Given the description of an element on the screen output the (x, y) to click on. 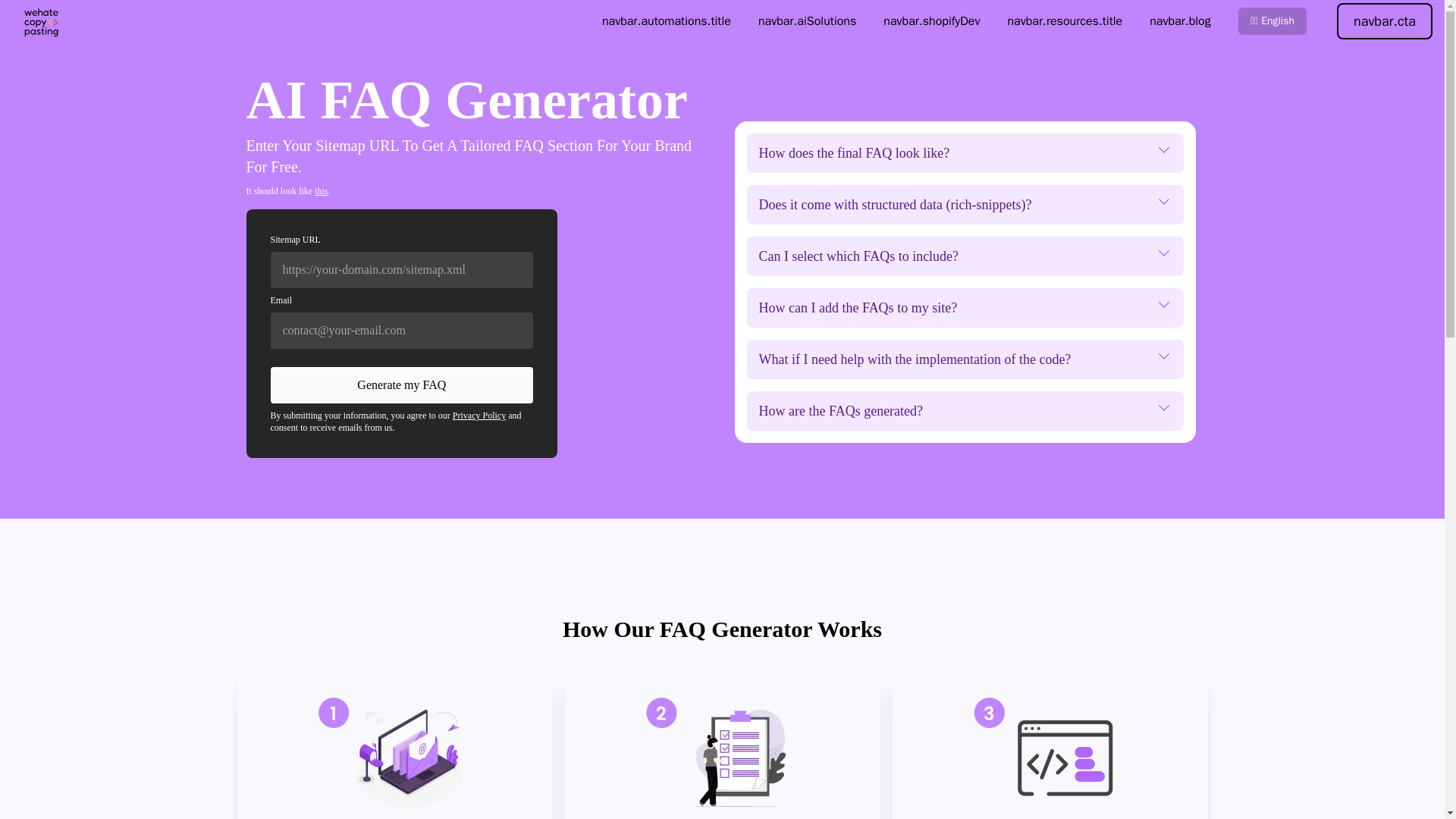
navbar.resources.title (1064, 20)
navbar.blog (1180, 20)
How are the FAQs generated? (963, 410)
navbar.cta (1384, 20)
What if I need help with the implementation of the code? (963, 359)
How does the final FAQ look like? (963, 152)
How can I add the FAQs to my site? (963, 307)
navbar.aiSolutions (807, 20)
Privacy Policy (478, 415)
navbar.shopifyDev (931, 20)
